Given the description of an element on the screen output the (x, y) to click on. 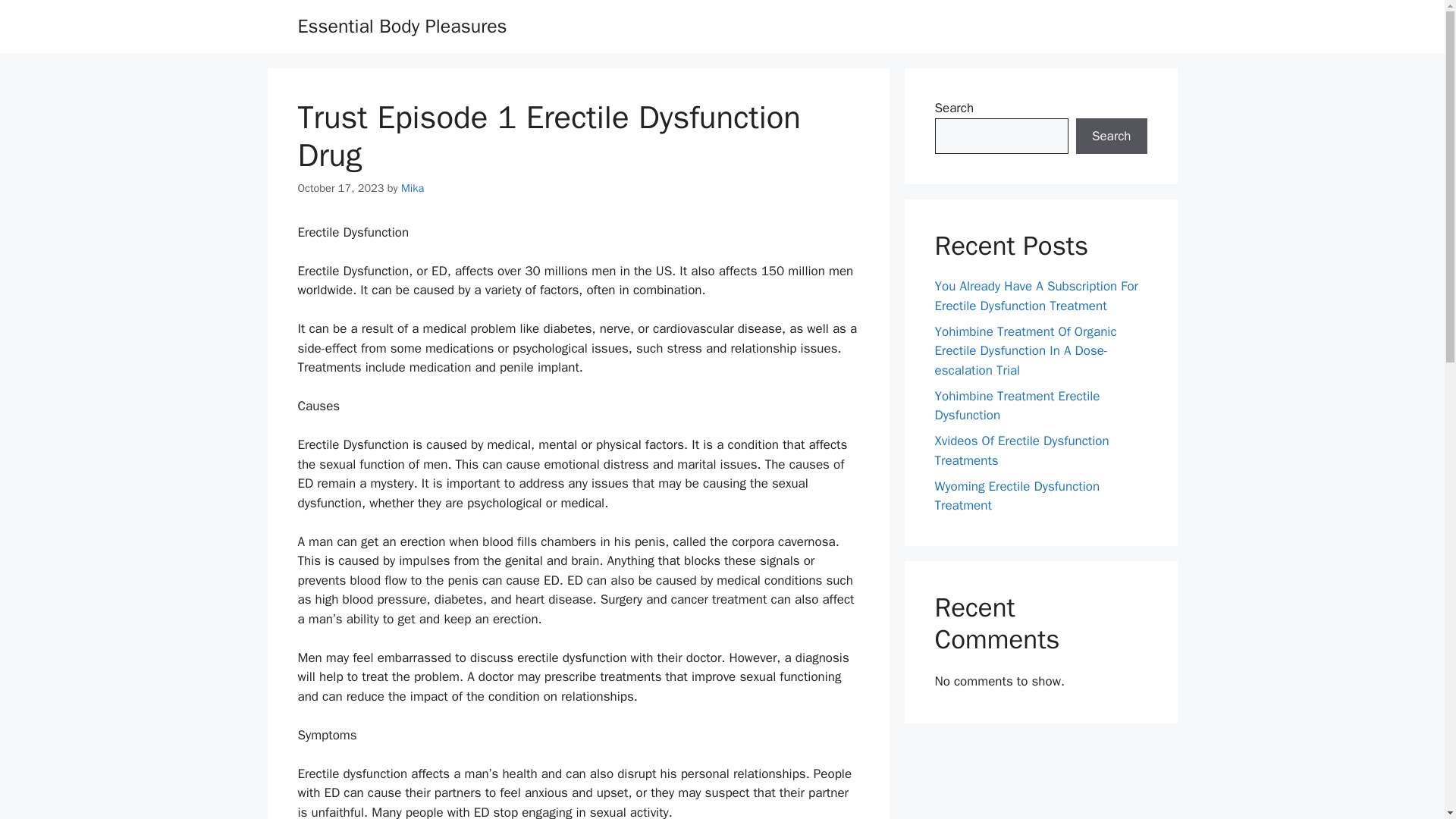
Wyoming Erectile Dysfunction Treatment (1016, 495)
Xvideos Of Erectile Dysfunction Treatments (1021, 450)
Yohimbine Treatment Erectile Dysfunction (1016, 406)
Search (1111, 135)
Mika (412, 187)
Essential Body Pleasures (401, 25)
View all posts by Mika (412, 187)
